Given the description of an element on the screen output the (x, y) to click on. 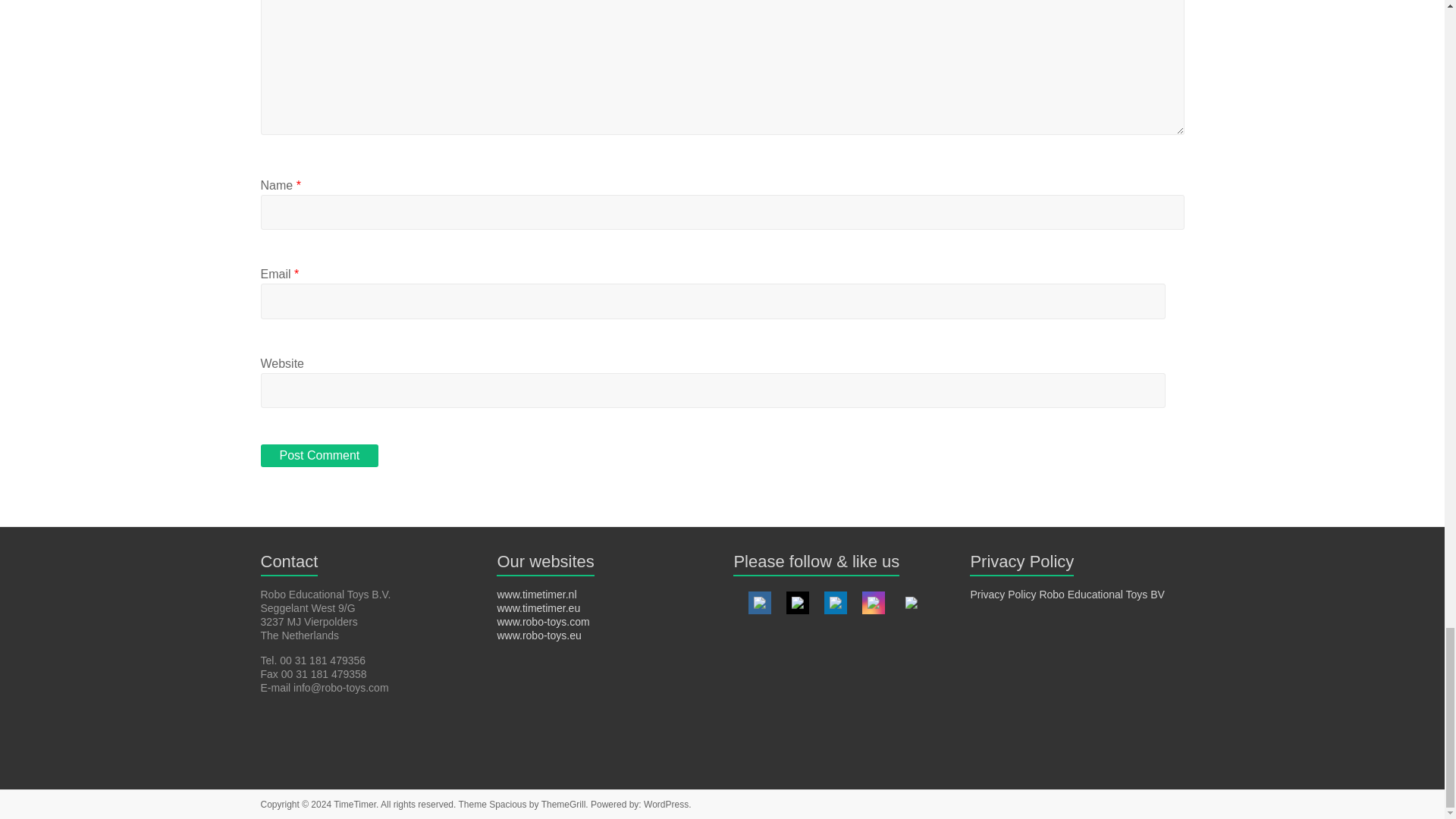
Spacious (507, 804)
TimeTimer (354, 804)
Facebook (760, 603)
INSTAGRAM (873, 603)
LinkedIn (836, 603)
WordPress (665, 804)
SOCIALICON (911, 603)
Twitter (798, 603)
Post Comment (319, 455)
